Given the description of an element on the screen output the (x, y) to click on. 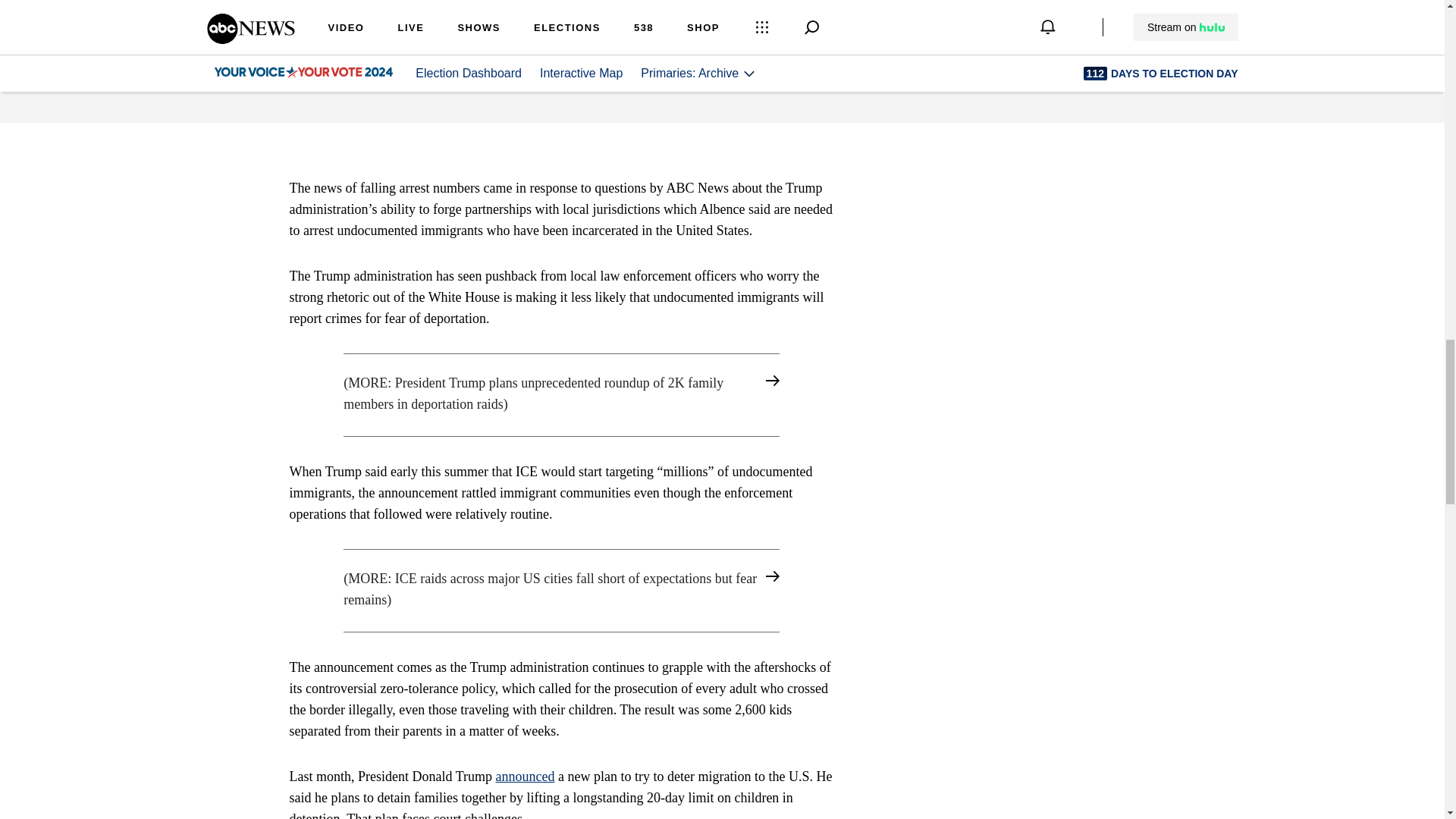
announced (525, 776)
